Given the description of an element on the screen output the (x, y) to click on. 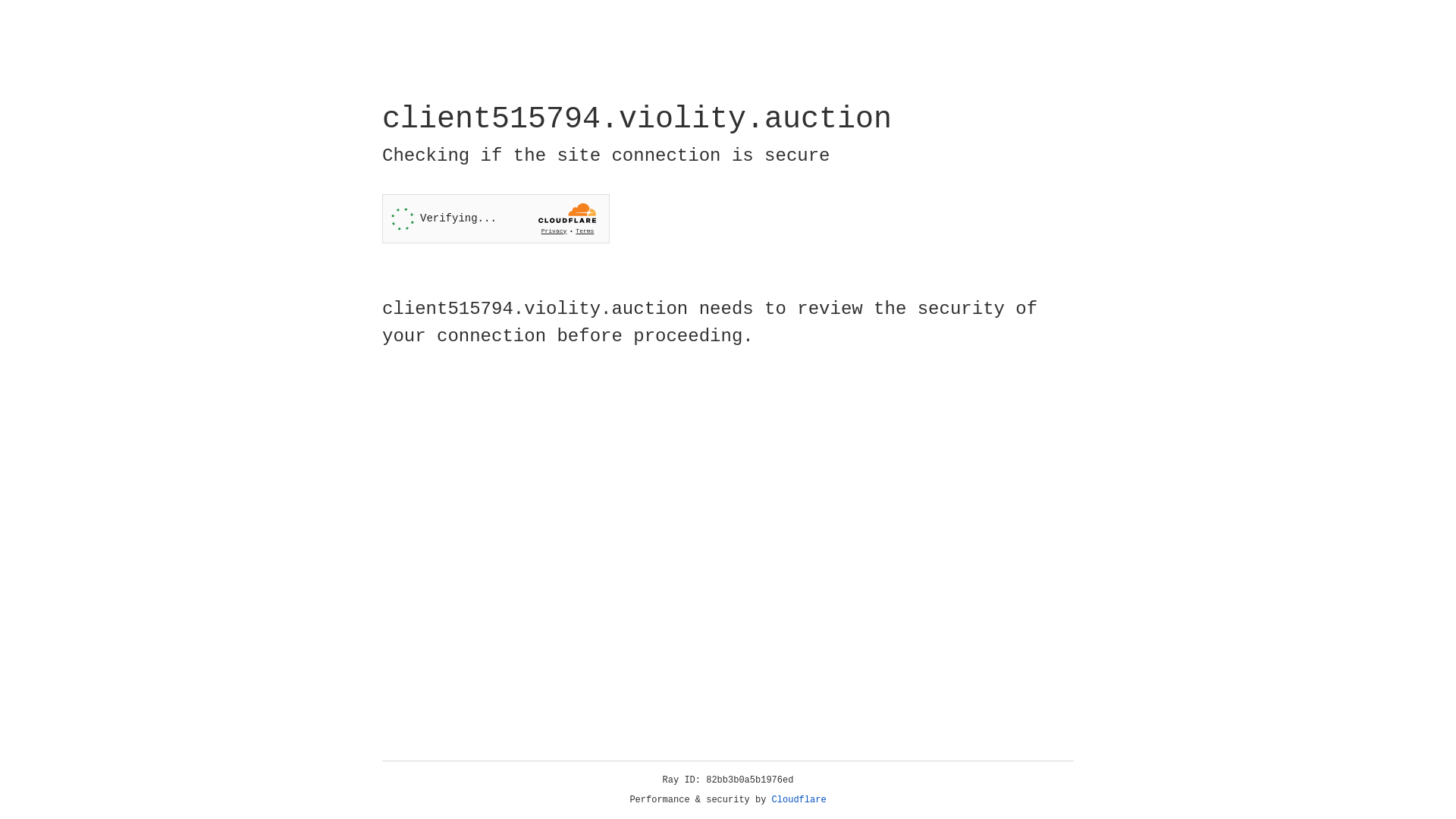
Cloudflare Element type: text (798, 799)
Widget containing a Cloudflare security challenge Element type: hover (495, 218)
